Given the description of an element on the screen output the (x, y) to click on. 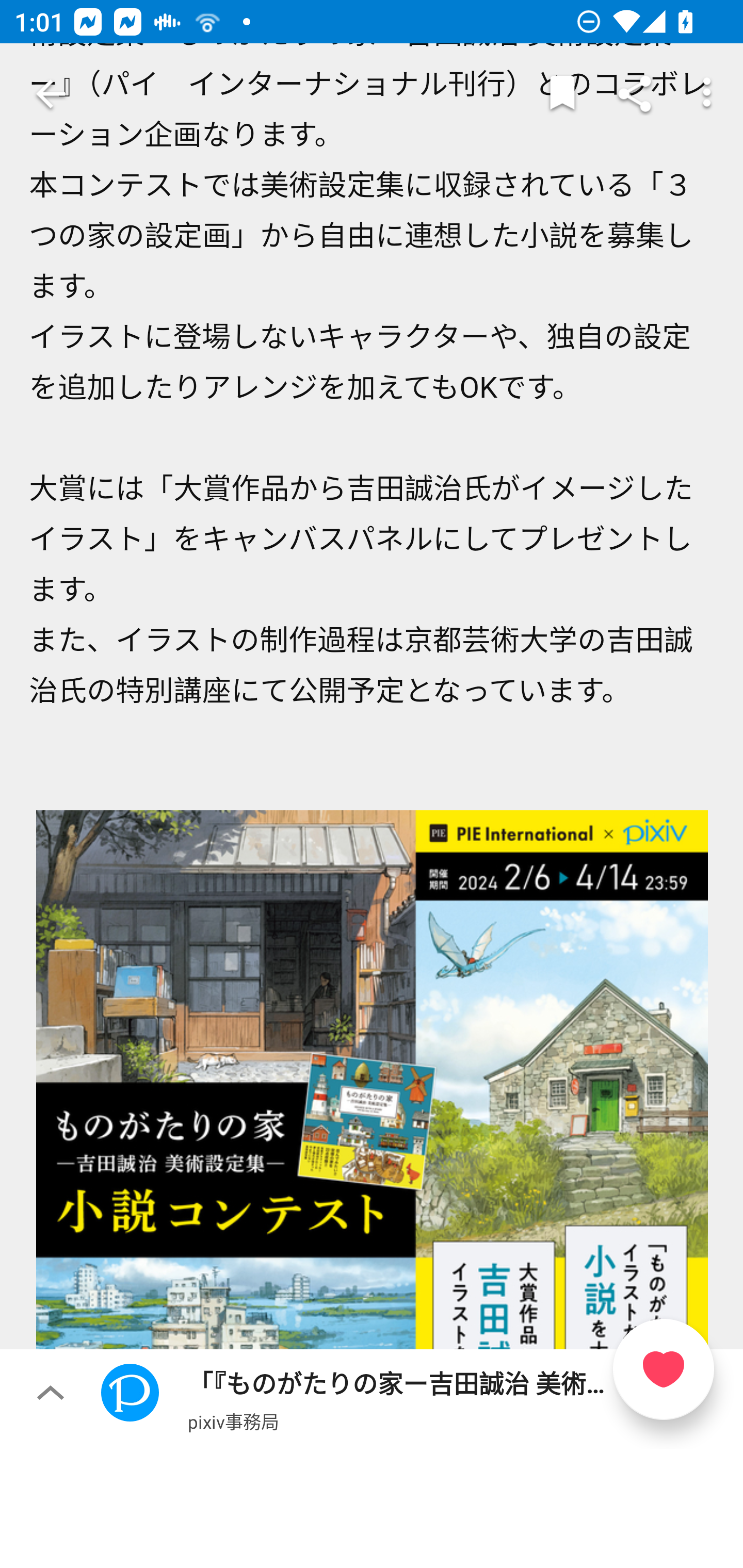
Navigate up (50, 93)
Markers (562, 93)
Share (634, 93)
More options (706, 93)
「『ものがたりの家ー吉田誠治 美術設定集ー』小説コンテスト」開催 (371, 1129)
pixiv事務局 (233, 1421)
